Given the description of an element on the screen output the (x, y) to click on. 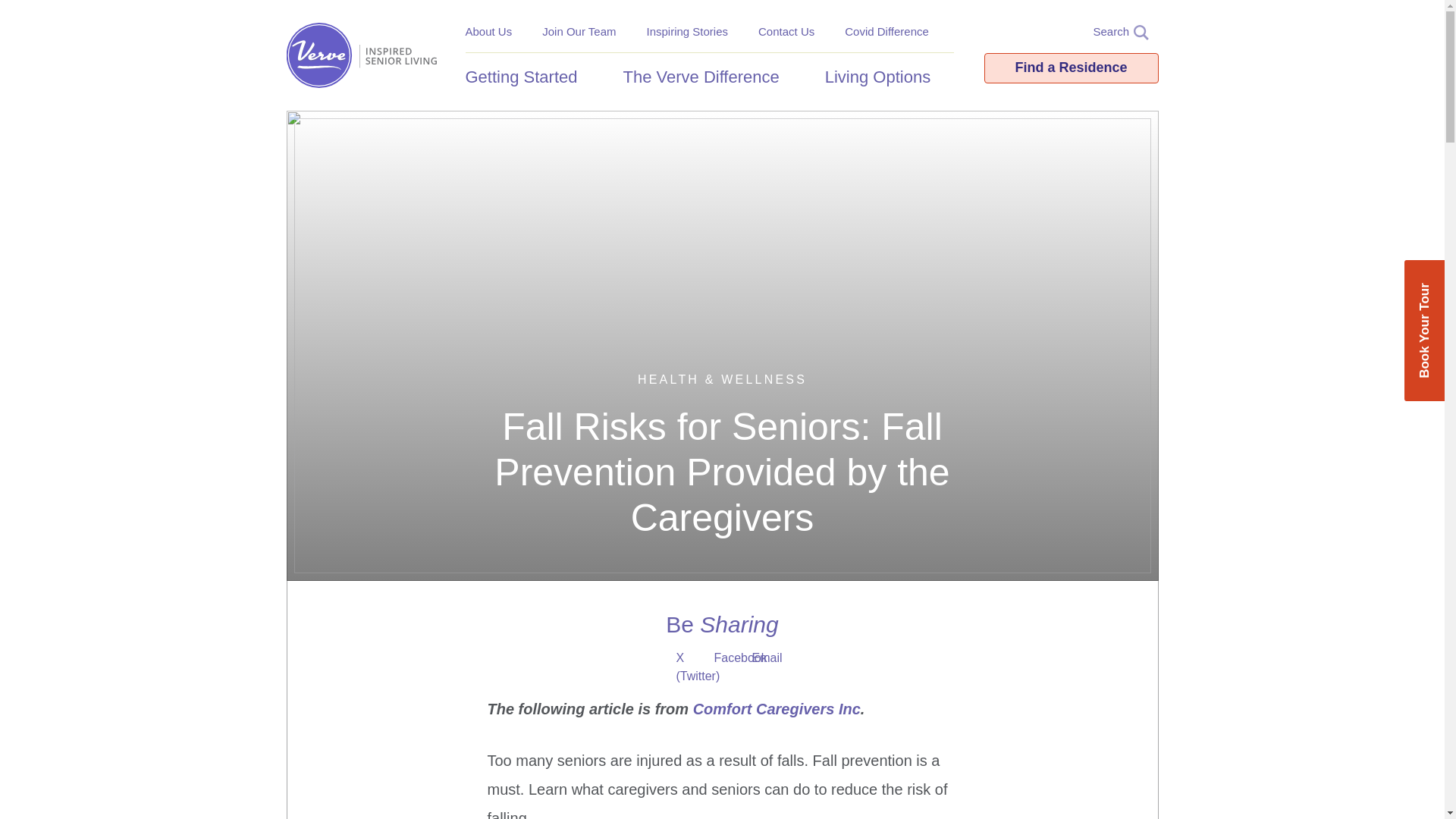
Living Options (884, 76)
Getting Started (528, 76)
The Verve Difference (708, 76)
Contact Us (785, 31)
Inspiring Stories (687, 31)
Covid Difference (886, 31)
Join Our Team (578, 31)
About Us (488, 31)
